Given the description of an element on the screen output the (x, y) to click on. 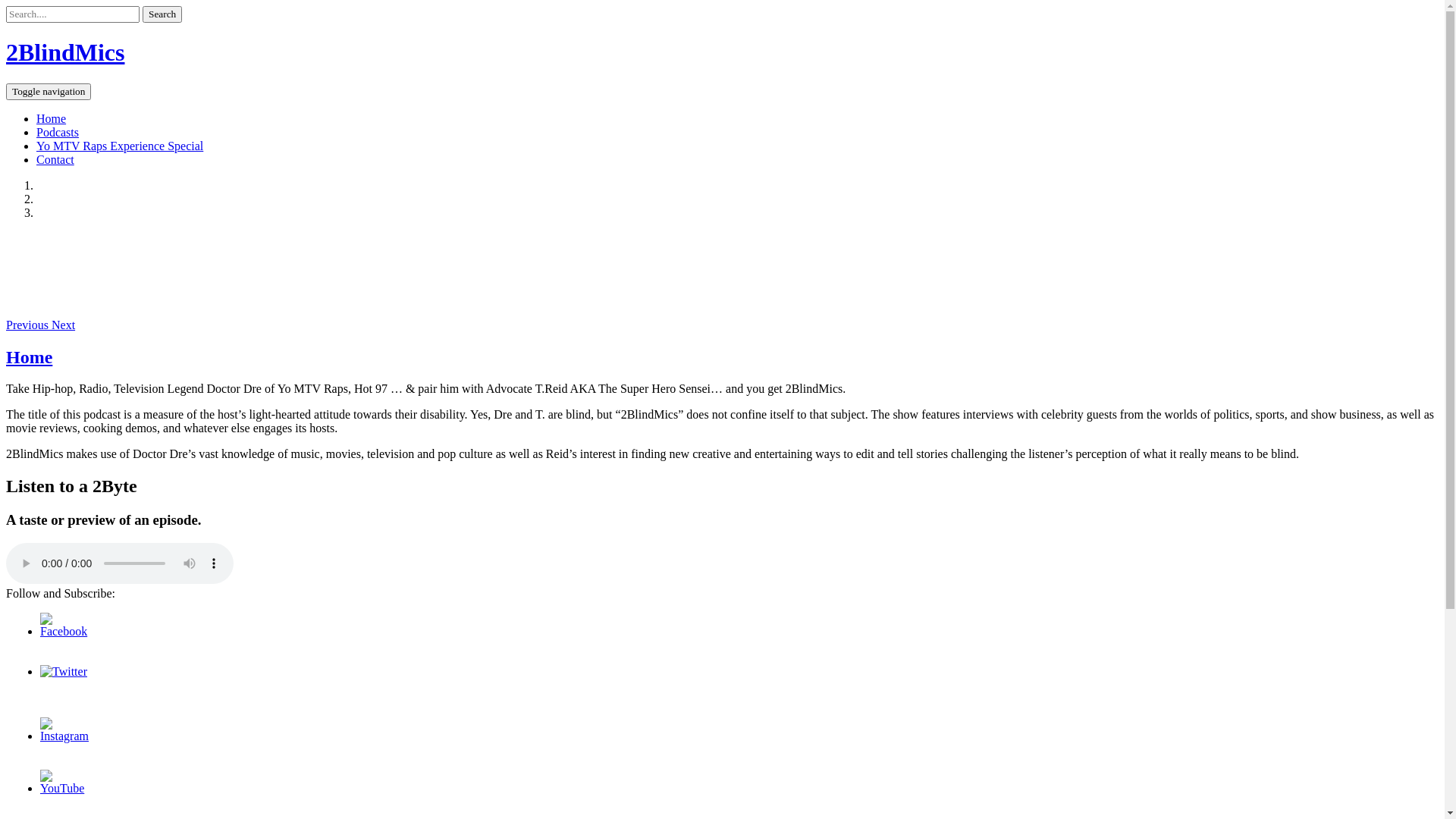
2BlindMics Element type: text (65, 51)
Yo MTV Raps Experience Special Element type: text (119, 145)
Home Element type: text (50, 118)
Previous Element type: text (28, 324)
Search Element type: text (162, 14)
Instagram Element type: hover (64, 735)
Facebook Element type: hover (64, 630)
YouTube Element type: hover (64, 787)
Toggle navigation Element type: text (48, 91)
Next Element type: text (63, 324)
Contact Element type: text (55, 159)
Podcasts Element type: text (57, 131)
Twitter Element type: hover (63, 671)
Home Element type: text (29, 357)
